Given the description of an element on the screen output the (x, y) to click on. 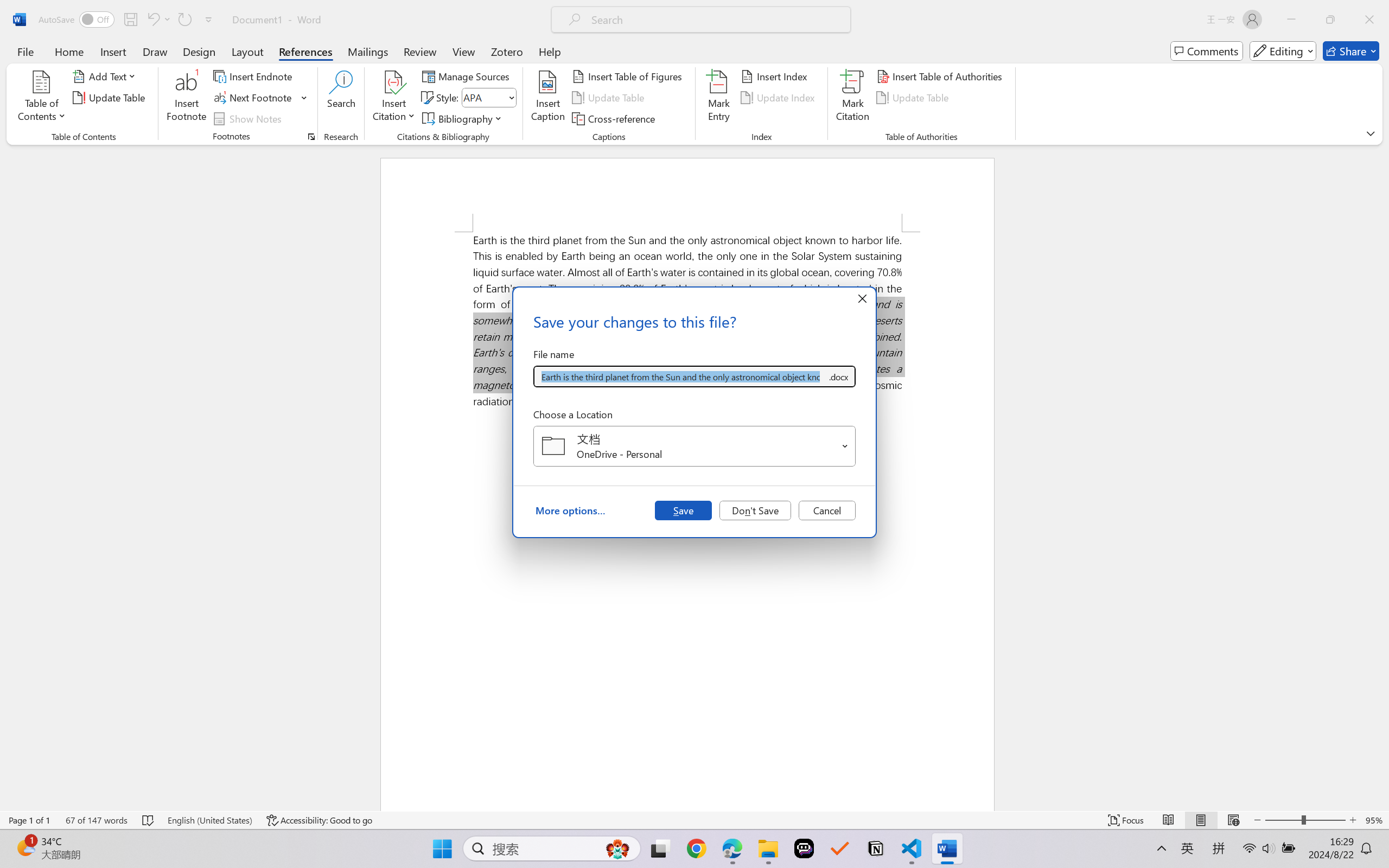
Next Footnote (260, 97)
Add Text (106, 75)
Insert Endnote (253, 75)
Bibliography (463, 118)
